Given the description of an element on the screen output the (x, y) to click on. 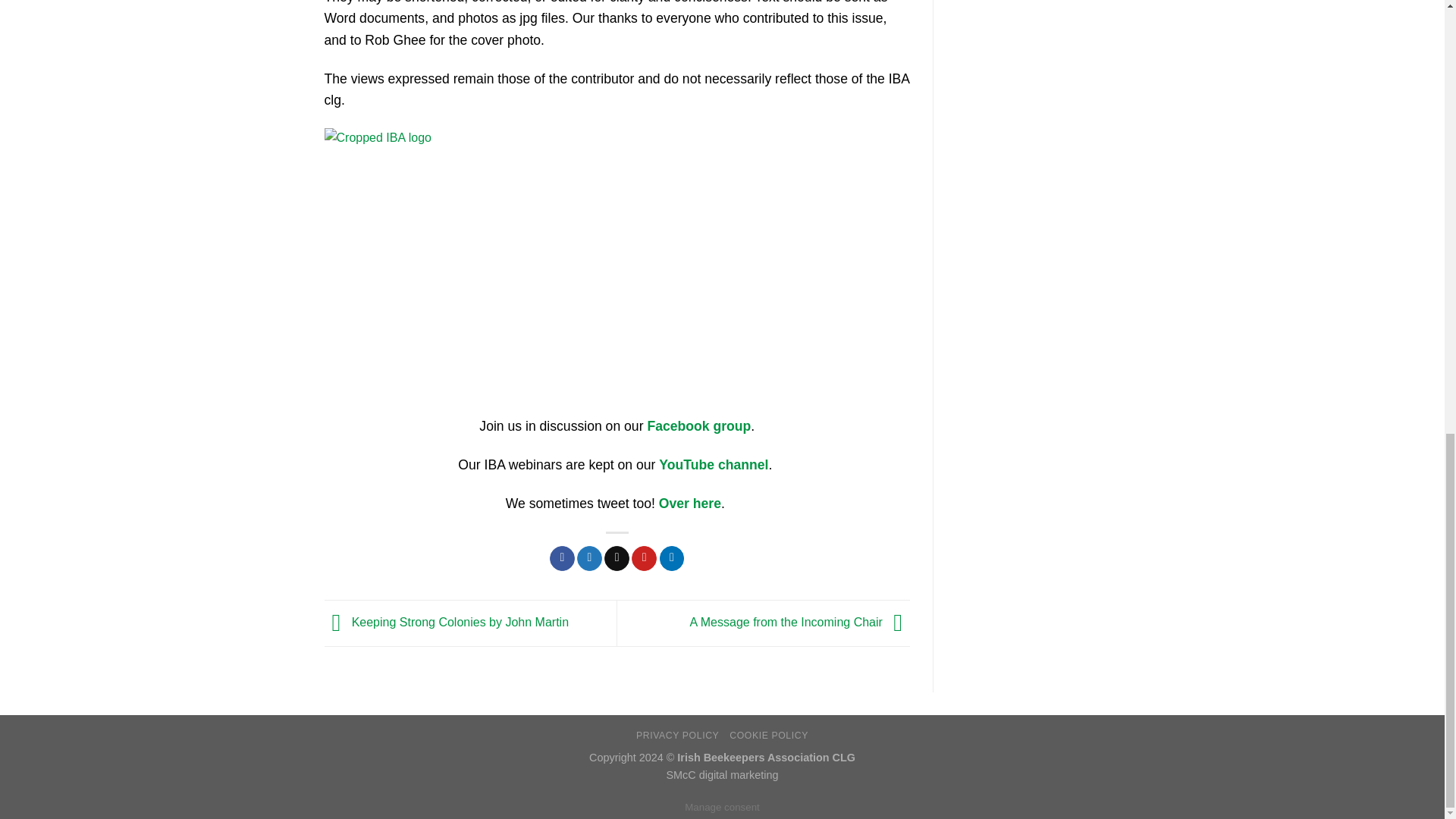
Over here (689, 503)
Share on Facebook (562, 558)
Cropped IBA logo (456, 271)
Pin on Pinterest (643, 558)
Email to a Friend (616, 558)
Share on LinkedIn (671, 558)
Facebook group (698, 426)
YouTube channel (713, 464)
Share on Twitter (589, 558)
